Given the description of an element on the screen output the (x, y) to click on. 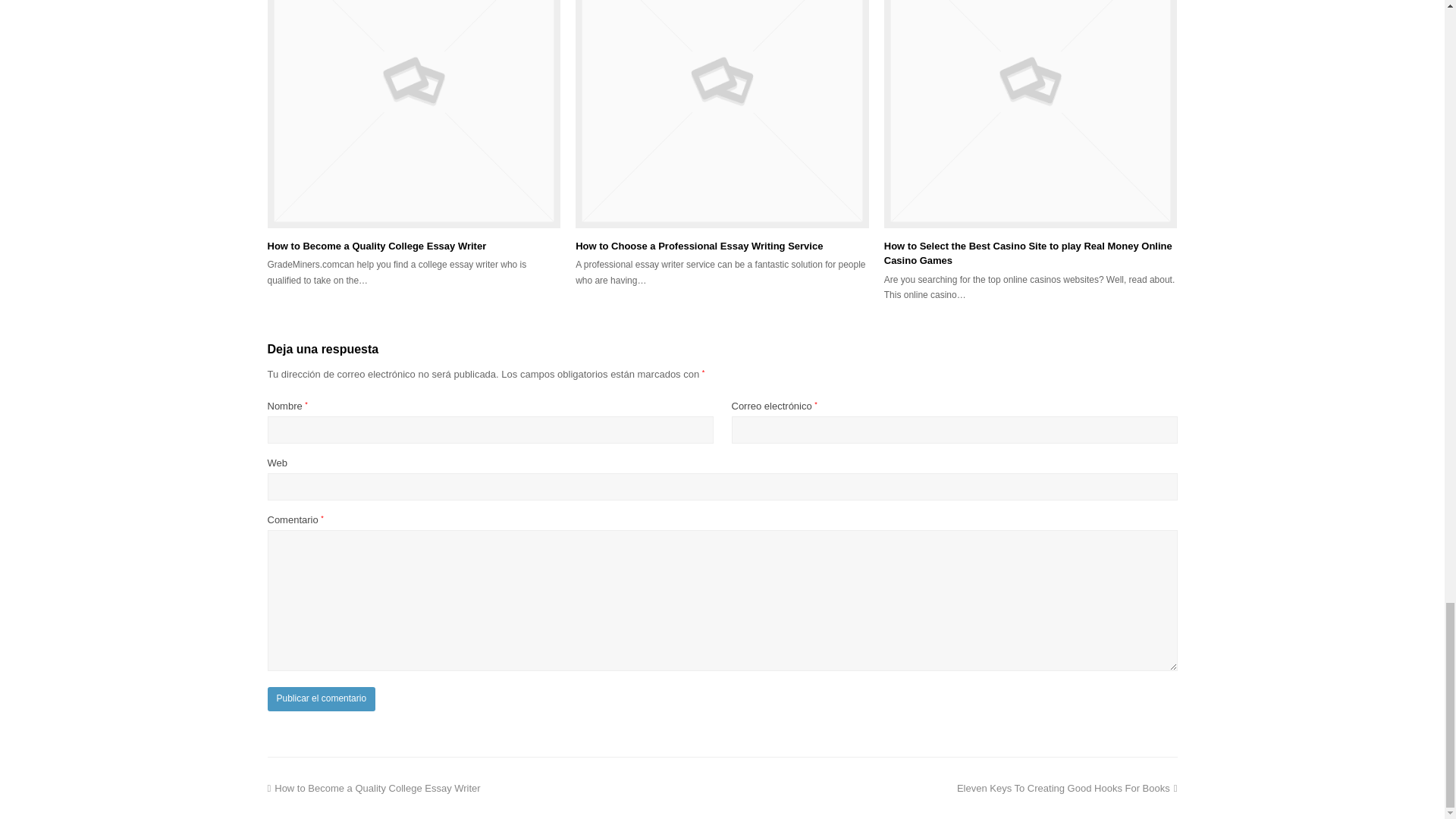
How to Become a Quality College Essay Writer (376, 245)
Publicar el comentario (320, 699)
Publicar el comentario (320, 699)
How to Choose a Professional Essay Writing Service (722, 114)
How to Become a Quality College Essay Writer (373, 787)
How to Choose a Professional Essay Writing Service (413, 114)
